Given the description of an element on the screen output the (x, y) to click on. 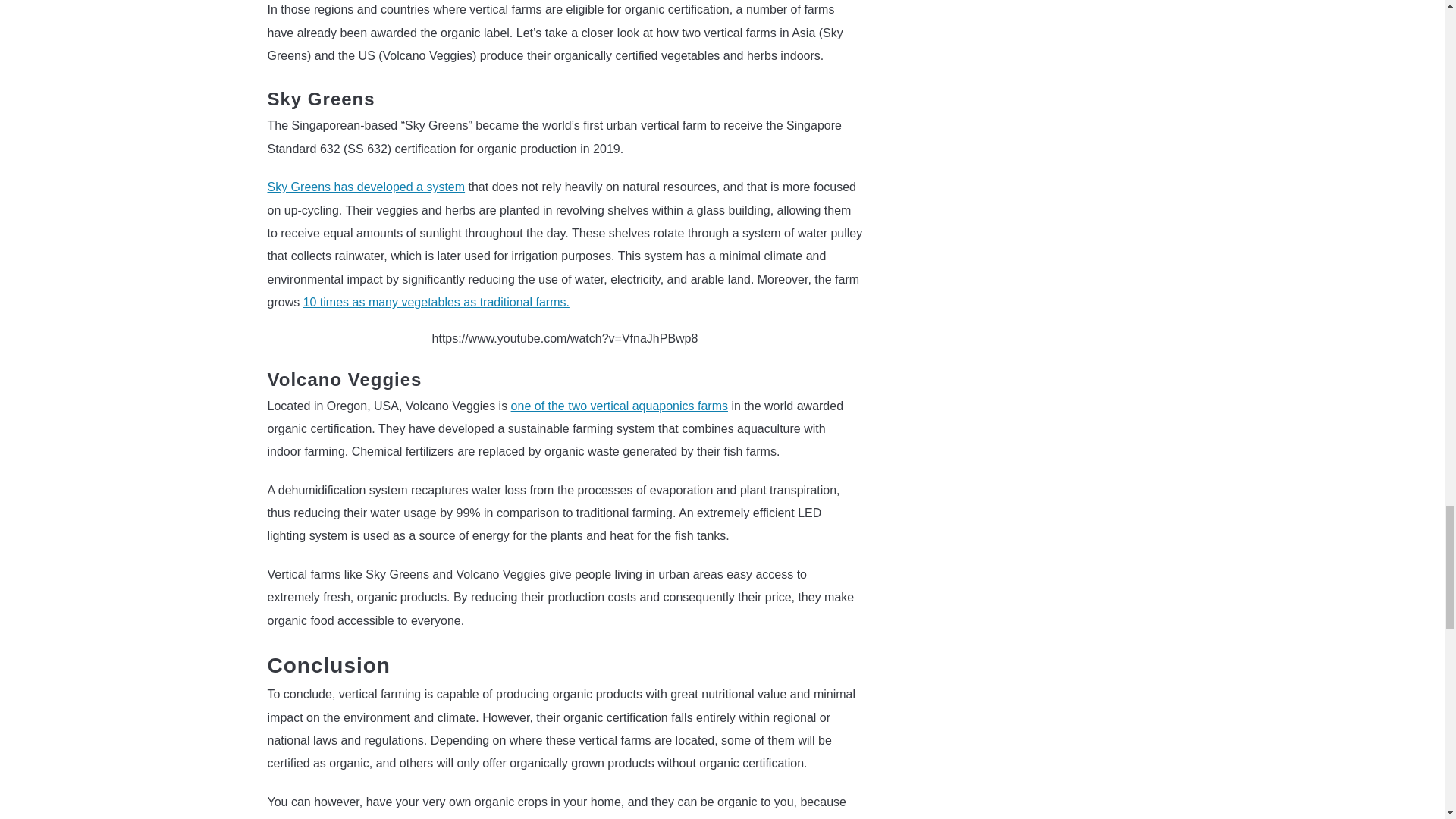
10 times as many vegetables as traditional farms. (435, 301)
one of the two vertical aquaponics farms (619, 405)
Sky Greens has developed a system (365, 186)
